Given the description of an element on the screen output the (x, y) to click on. 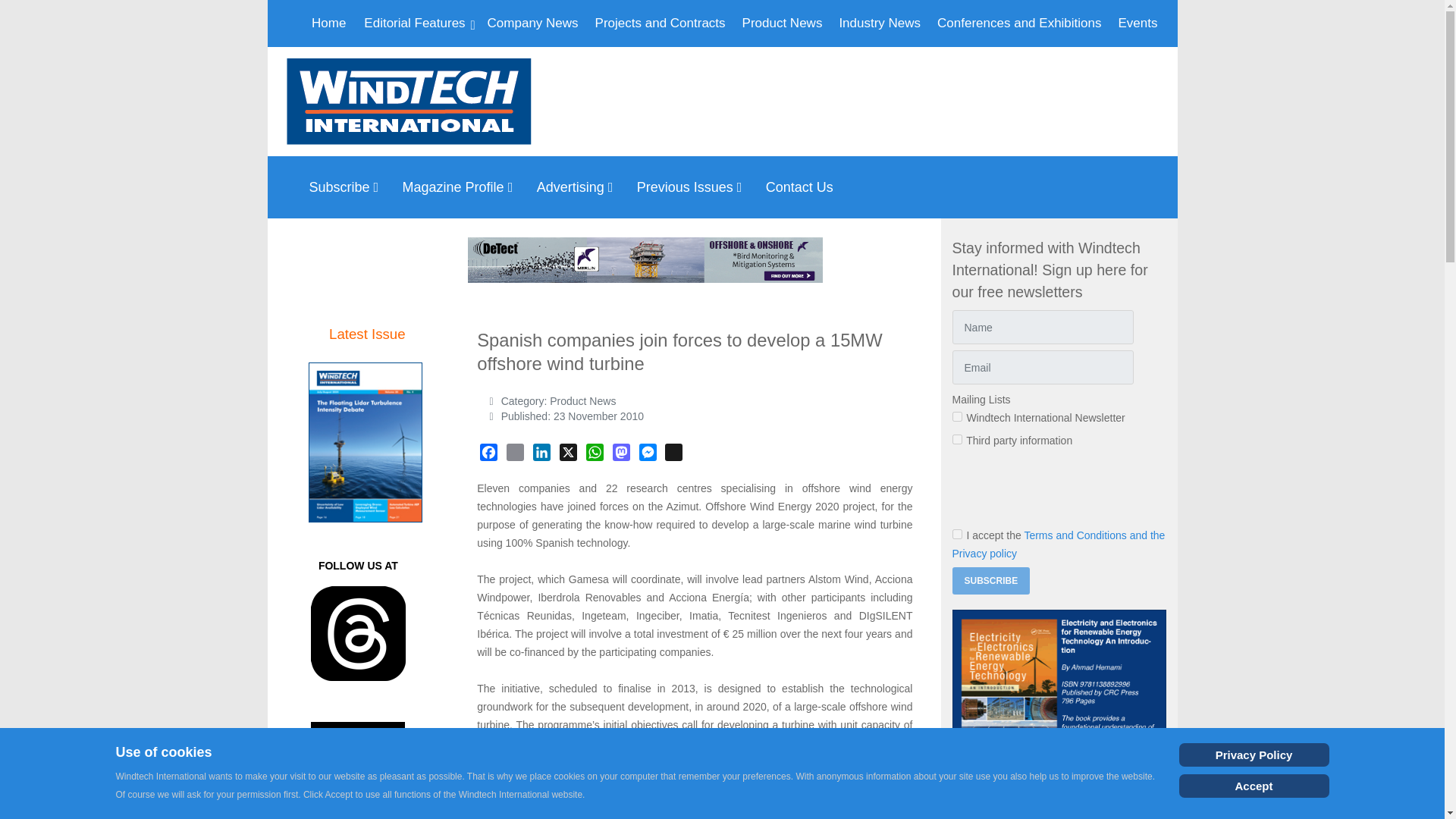
Editorial Features (416, 22)
5 (957, 439)
Projects and Contracts (660, 22)
Subscribe (347, 186)
Advertising (578, 186)
4 (957, 416)
Previous Issues (693, 186)
Conferences and Exhibitions (1019, 22)
Home (328, 22)
Product News (782, 22)
